Given the description of an element on the screen output the (x, y) to click on. 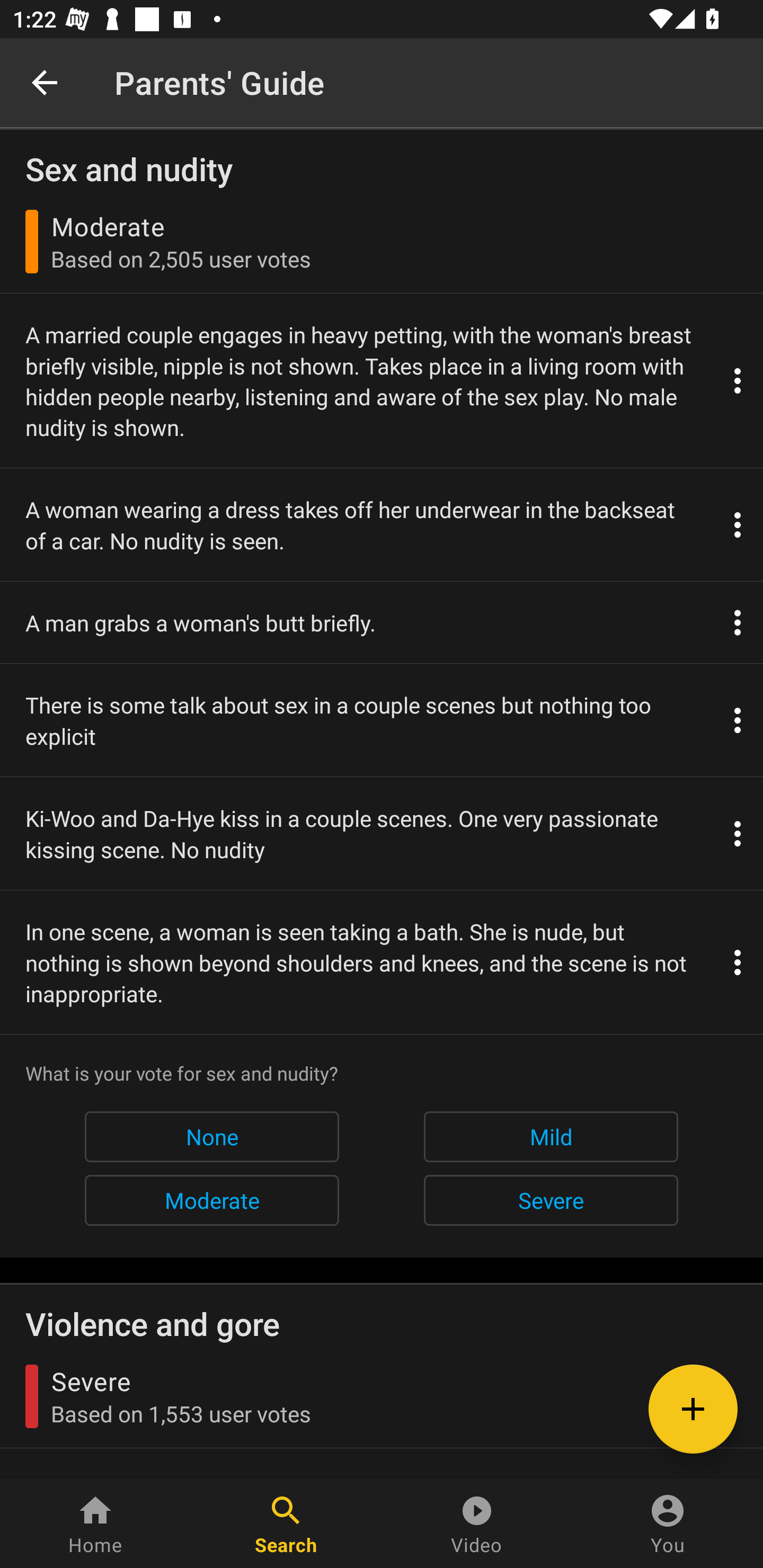
None (211, 1136)
Mild (551, 1136)
Moderate (211, 1200)
Severe (551, 1200)
Home (95, 1523)
Video (476, 1523)
You (667, 1523)
